Given the description of an element on the screen output the (x, y) to click on. 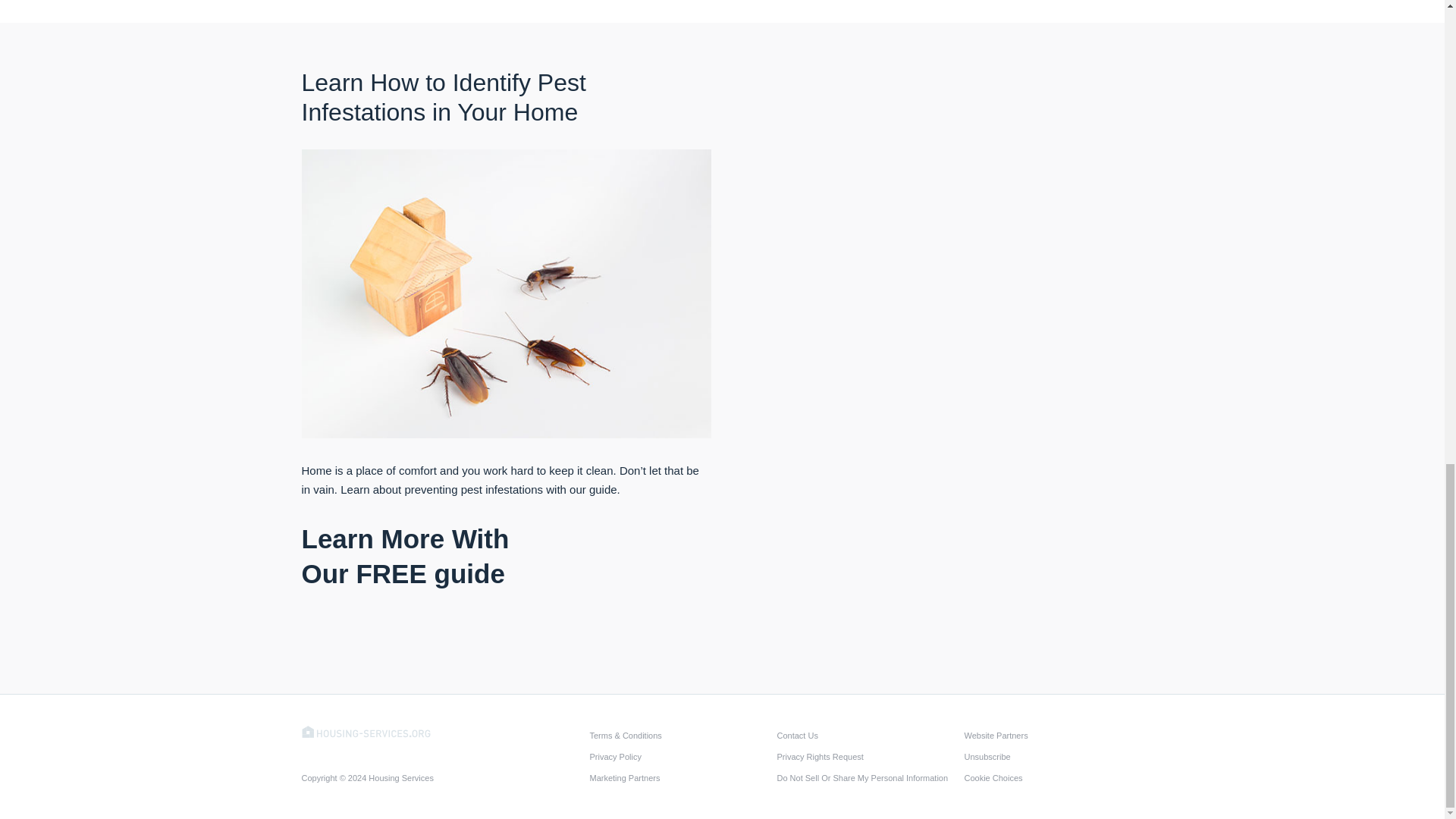
Website Partners (1052, 735)
Cookie Choices (1052, 777)
Privacy Rights Request (865, 756)
Website Partners (1052, 735)
Privacy Policy (678, 756)
Housing Services (365, 730)
Unsubscribe (1052, 756)
Unsubscribe (1052, 756)
Contact Us (865, 735)
Marketing Partners (678, 777)
Do Not Sell Or Share My Personal Information (865, 777)
Privacy Policy (678, 756)
Contact Us (865, 735)
Privacy Rights Request (865, 756)
Cookie Choices (1052, 777)
